Given the description of an element on the screen output the (x, y) to click on. 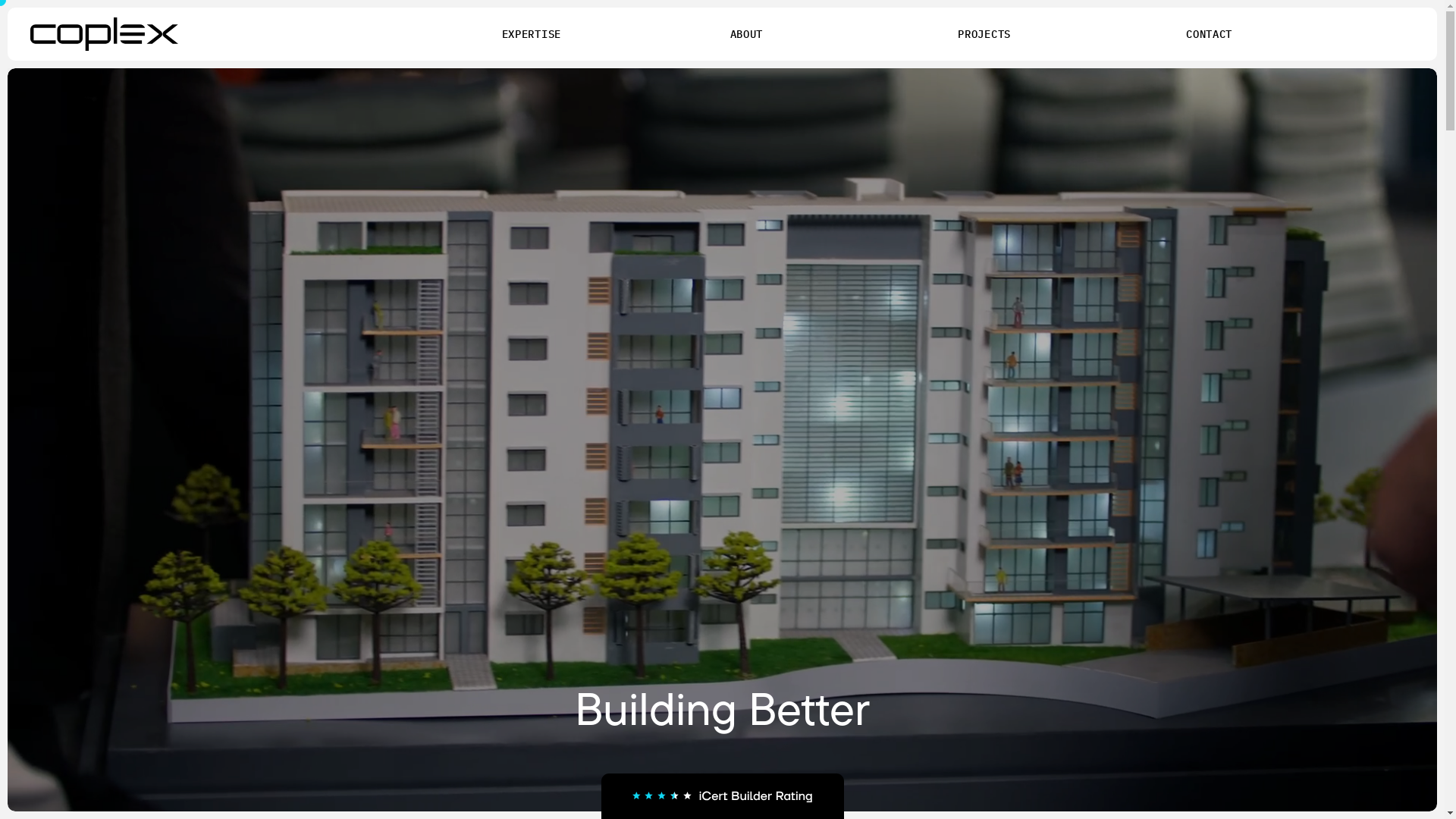
ABOUT Element type: text (745, 33)
PROJECTS Element type: text (983, 33)
EXPERTISE Element type: text (531, 33)
CONTACT Element type: text (1209, 33)
